Given the description of an element on the screen output the (x, y) to click on. 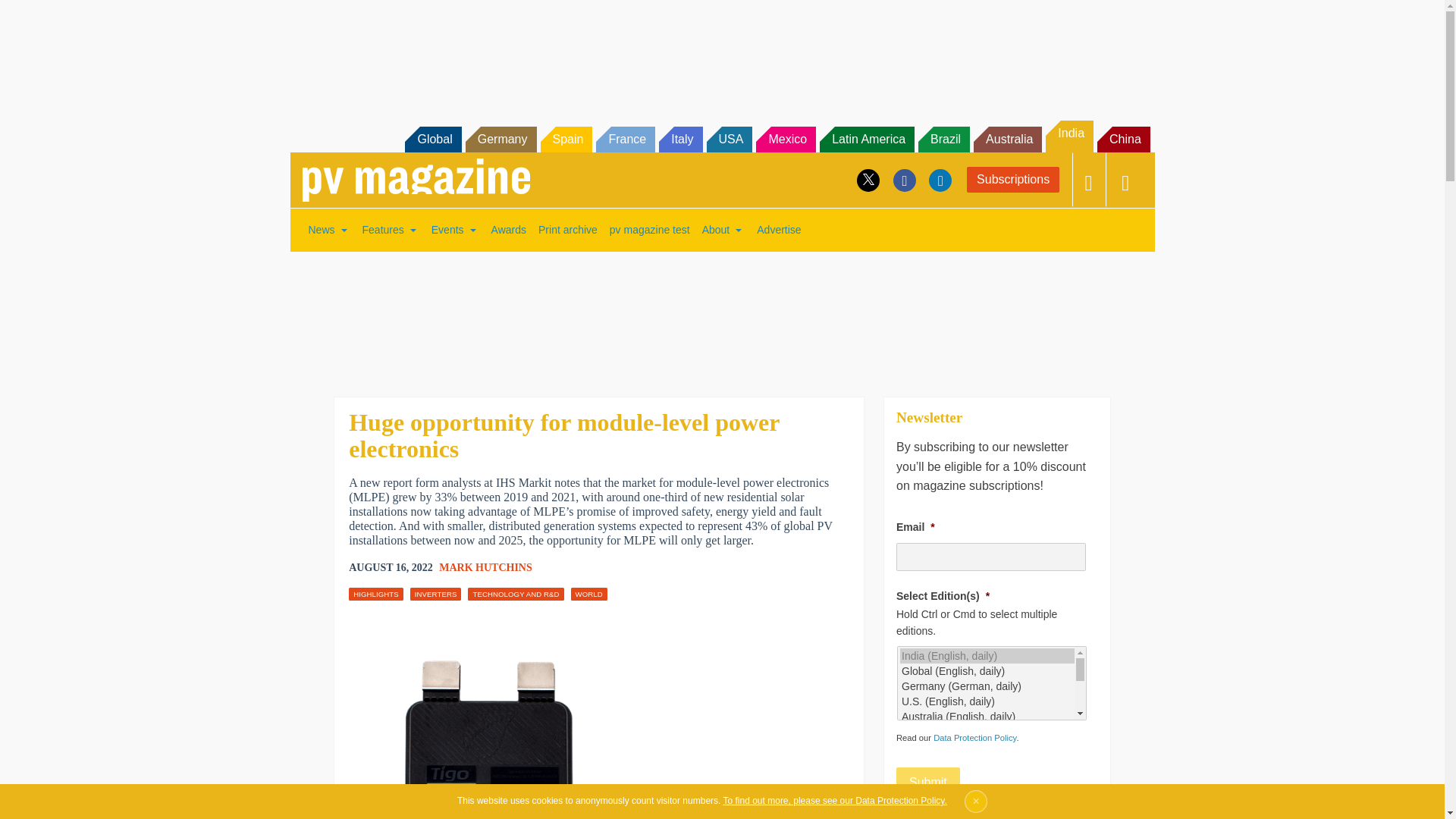
China (1123, 139)
3rd party ad content (721, 51)
Posts by Mark Hutchins (485, 567)
Germany (501, 139)
pv magazine - Photovoltaics Markets and Technology (415, 179)
Brazil (943, 139)
Submit (927, 782)
USA (729, 139)
Italy (680, 139)
France (625, 139)
Australia (1008, 139)
pv magazine - Photovoltaics Markets and Technology (415, 180)
Mexico (785, 139)
Global (432, 139)
3rd party ad content (721, 314)
